Given the description of an element on the screen output the (x, y) to click on. 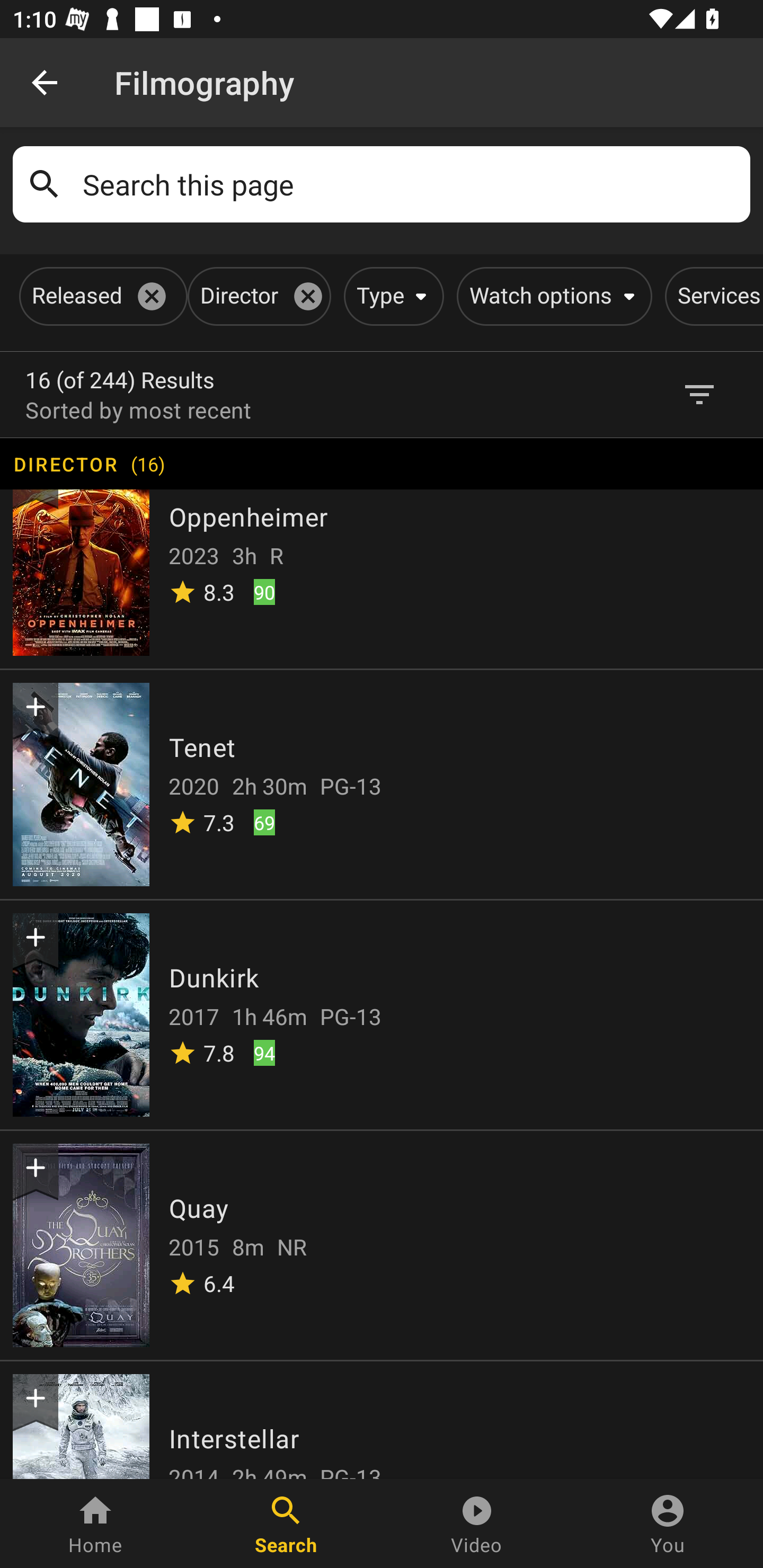
Search this page (410, 184)
Released (100, 296)
Director (256, 296)
Type (390, 296)
Watch options (551, 296)
Services (714, 296)
Oppenheimer 2023 3h R 8.3 90 (381, 552)
Tenet 2020 2h 30m PG-13 7.3 69 (381, 782)
Dunkirk 2017 1h 46m PG-13 7.8 94 (381, 1013)
Quay 2015 8m NR 6.4 (381, 1243)
Interstellar 2014 2h 49m PG-13 (381, 1418)
Home (95, 1523)
Video (476, 1523)
You (667, 1523)
